Given the description of an element on the screen output the (x, y) to click on. 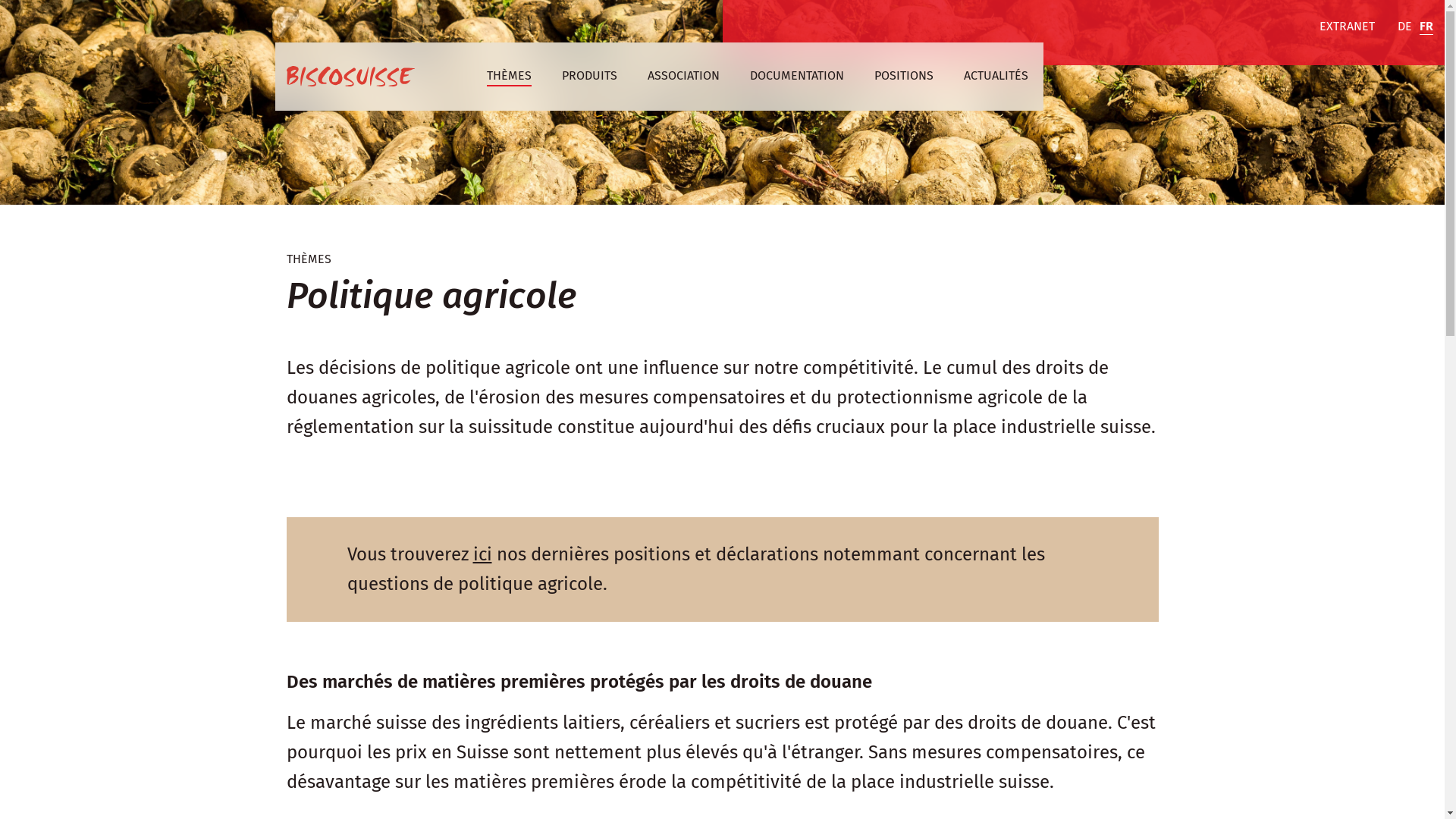
DE Element type: text (1404, 26)
POSITIONS Element type: text (902, 76)
ici Element type: text (482, 553)
Home Element type: hover (350, 76)
ASSOCIATION Element type: text (683, 76)
FR Element type: text (1426, 26)
DOCUMENTATION Element type: text (796, 76)
PRODUITS Element type: text (588, 76)
EXTRANET Element type: text (1346, 26)
